Given the description of an element on the screen output the (x, y) to click on. 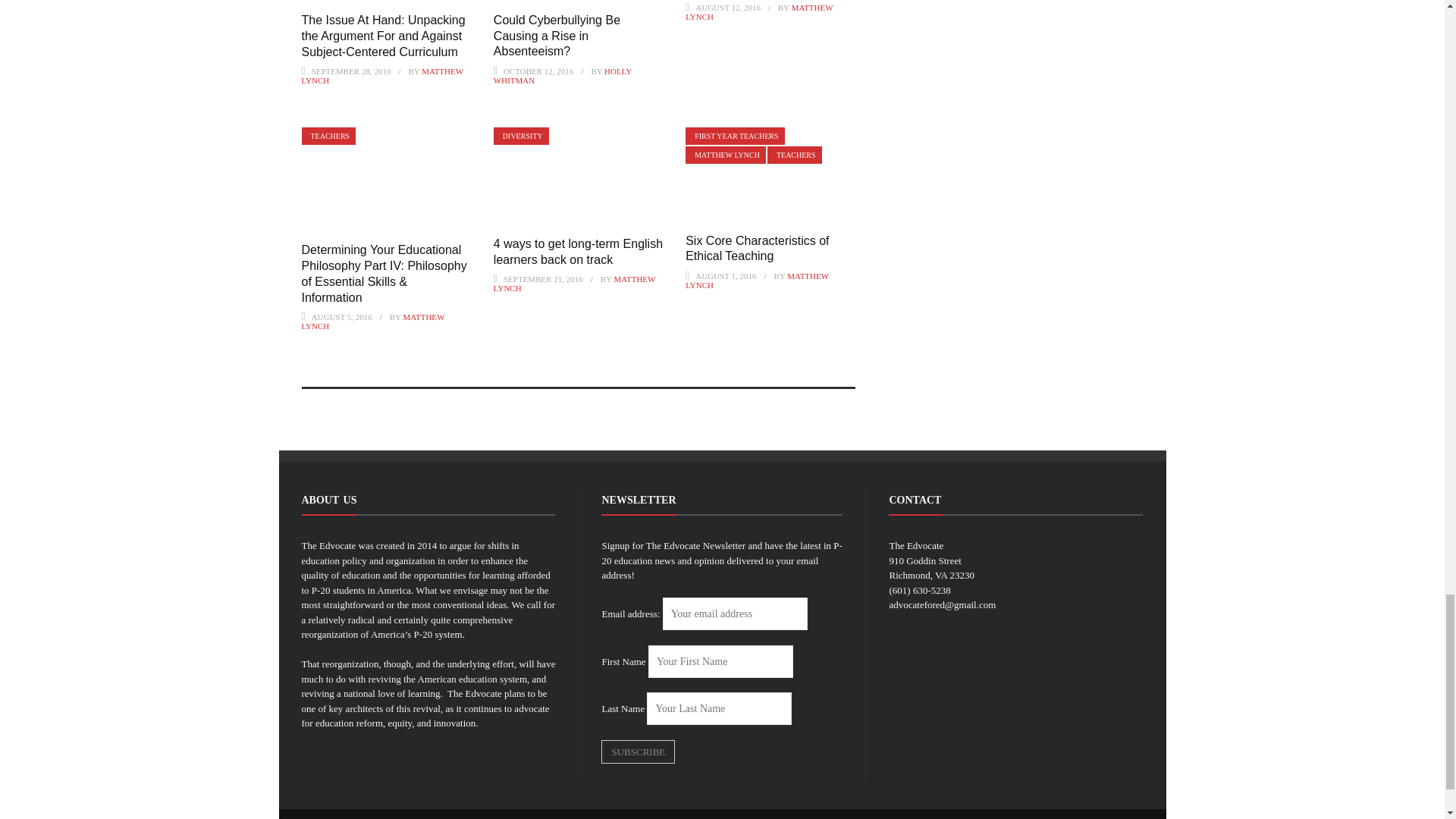
Subscribe (638, 752)
